Given the description of an element on the screen output the (x, y) to click on. 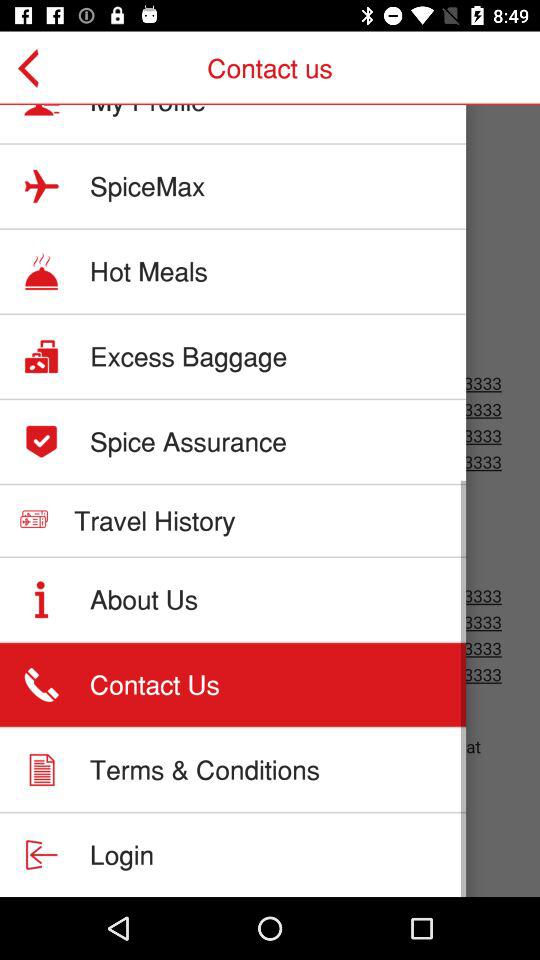
press icon below contact us item (147, 111)
